Given the description of an element on the screen output the (x, y) to click on. 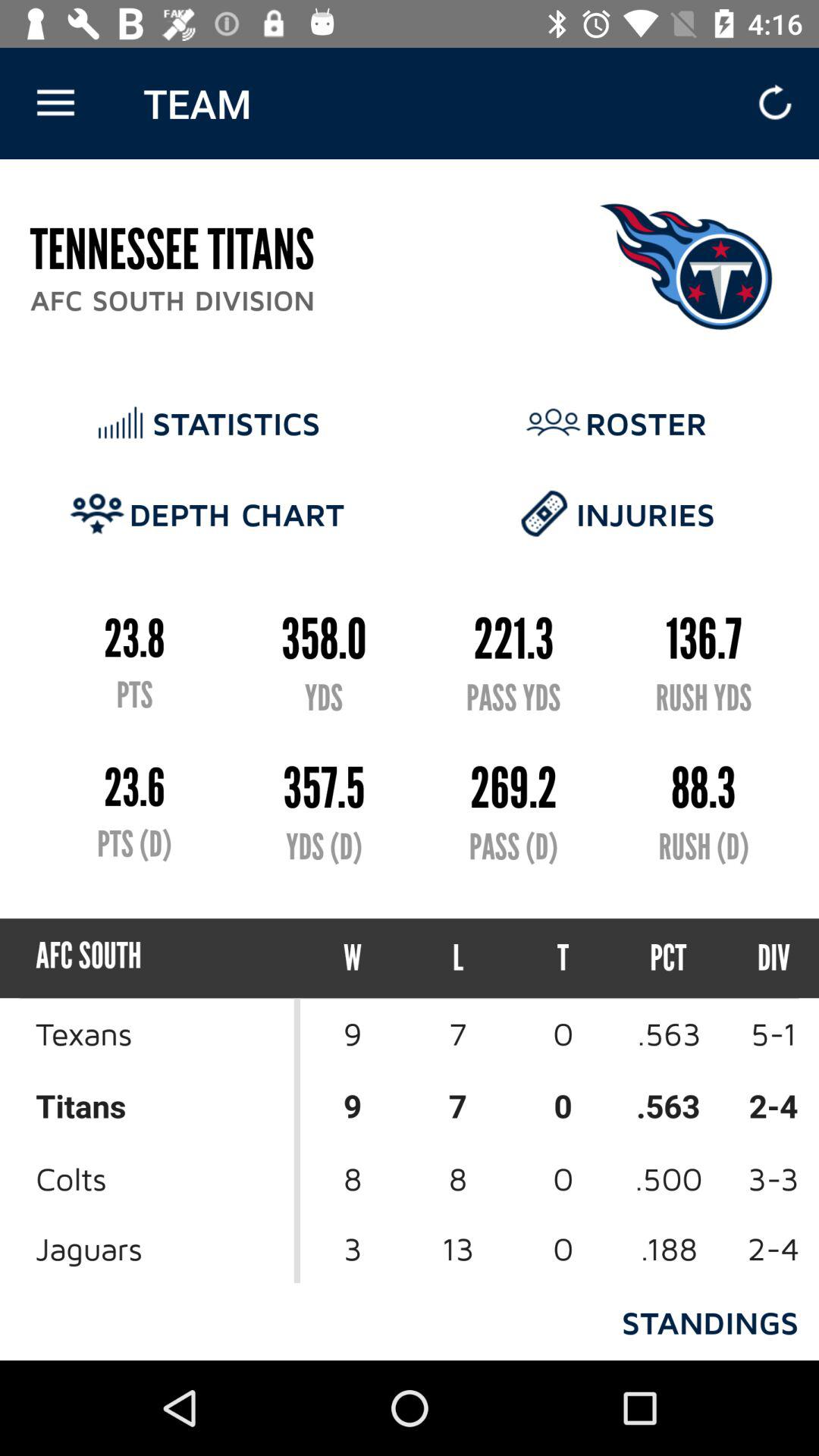
flip to w icon (352, 958)
